Given the description of an element on the screen output the (x, y) to click on. 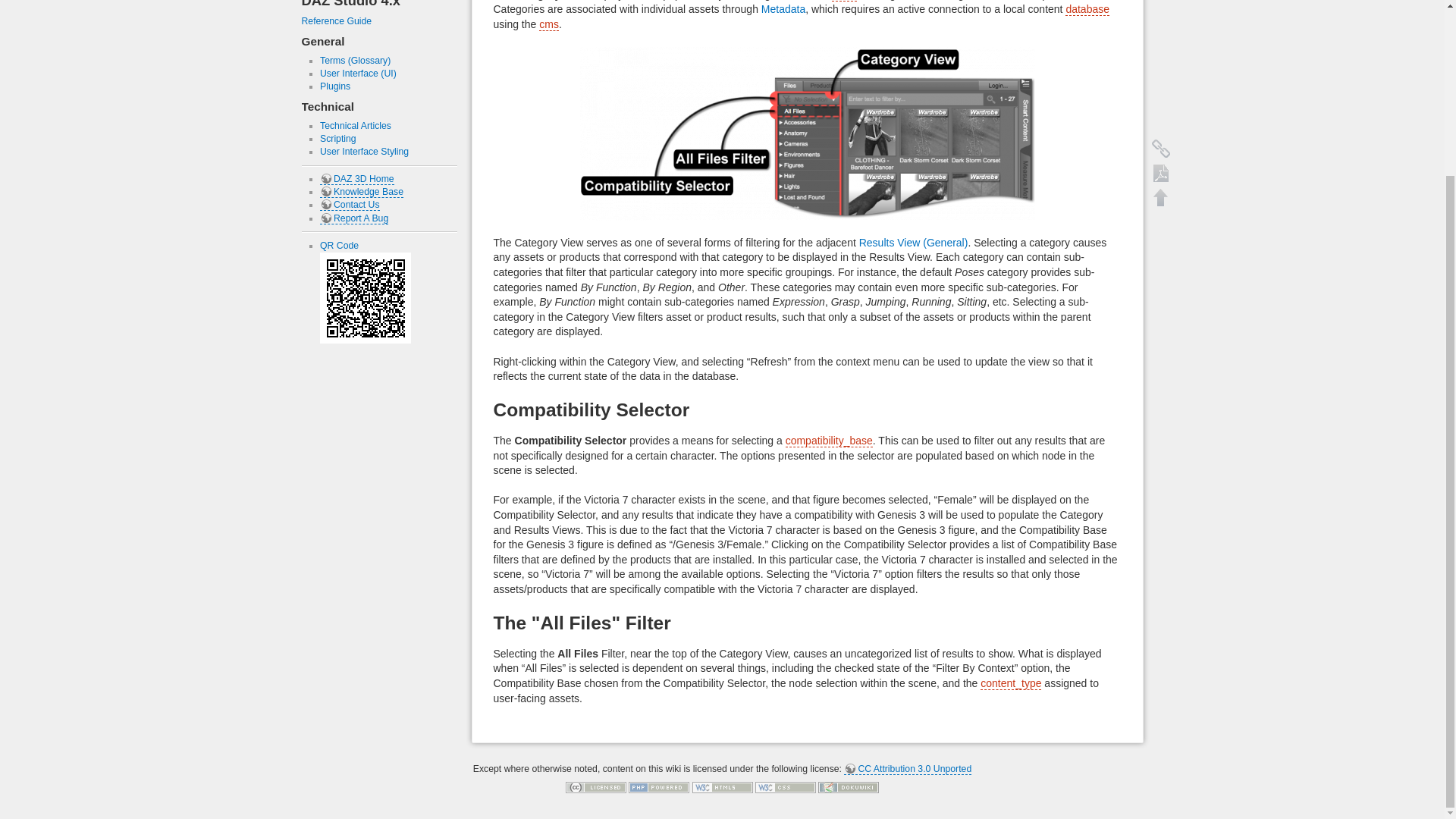
Contact Us (350, 204)
Report A Bug (354, 218)
Knowledge Base (361, 192)
DAZ 3D Home (357, 179)
Technical Articles (355, 125)
Plugins (335, 86)
QR Code (339, 245)
asset (844, 0)
Scripting (338, 138)
Metadata (783, 9)
Reference Guide (336, 20)
User Interface Styling (364, 151)
